Given the description of an element on the screen output the (x, y) to click on. 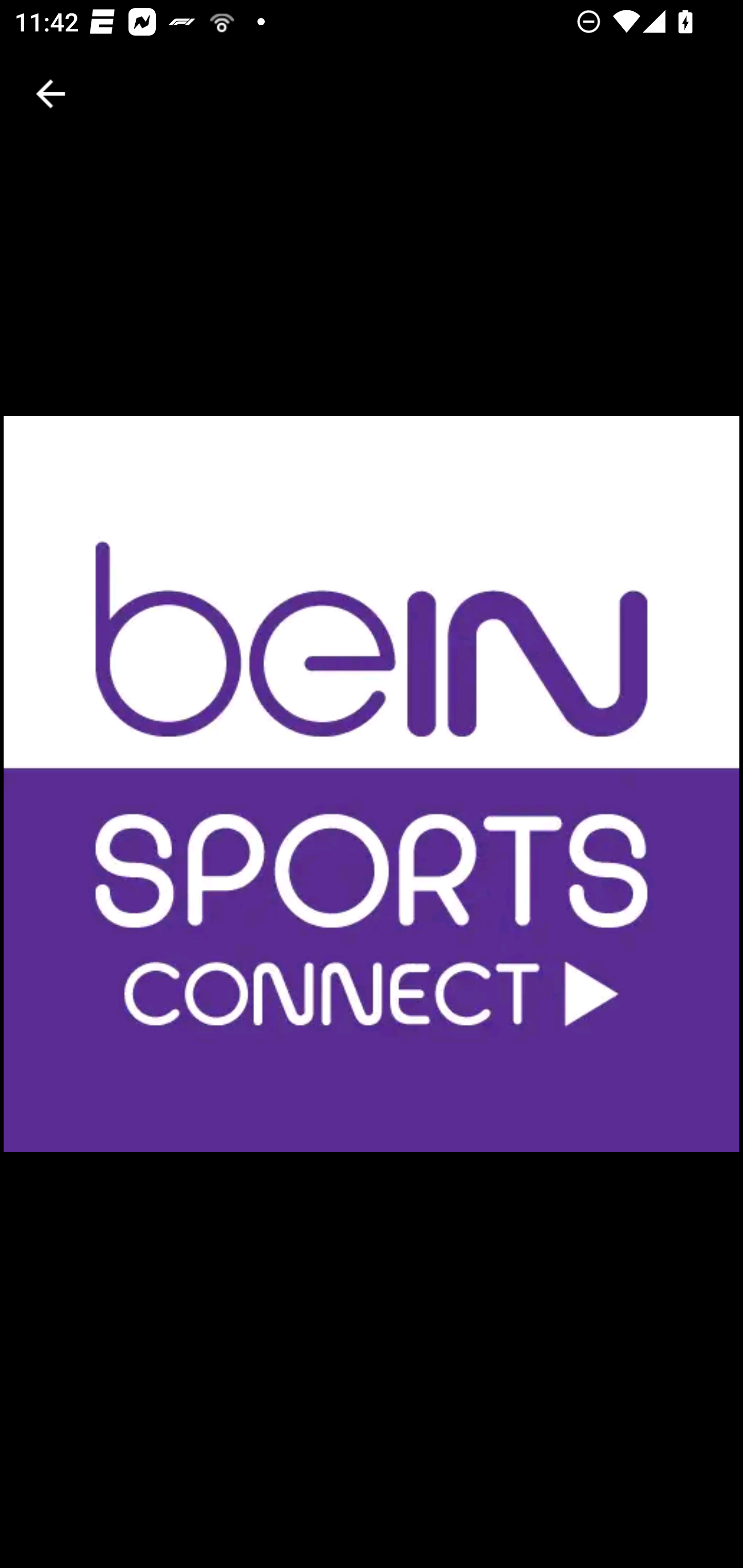
Back (50, 93)
